Given the description of an element on the screen output the (x, y) to click on. 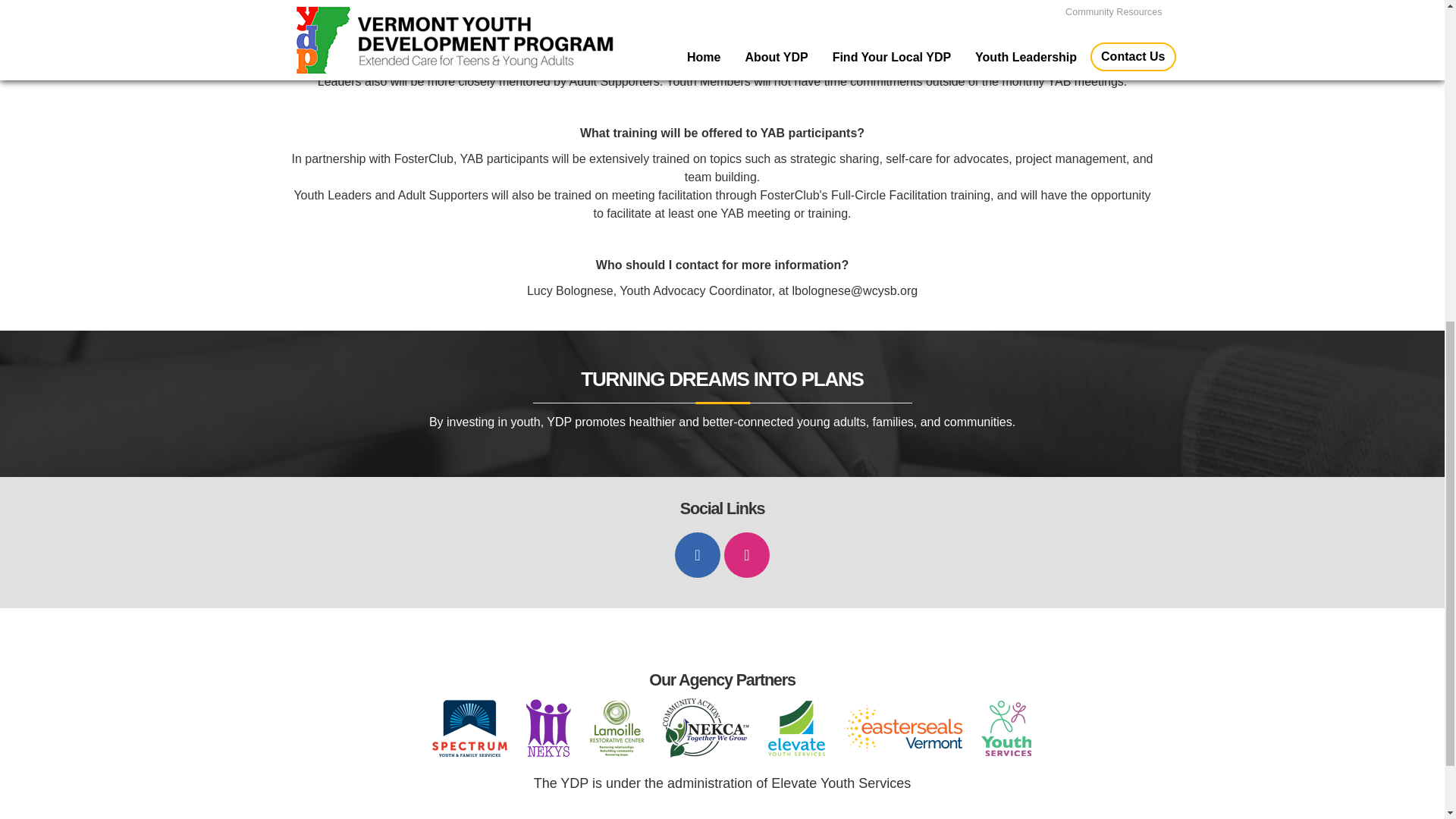
Youth Services (1005, 728)
Lamoille (616, 727)
easterseals Vermont (903, 728)
Spectrum (469, 728)
NEKCA (705, 727)
